Given the description of an element on the screen output the (x, y) to click on. 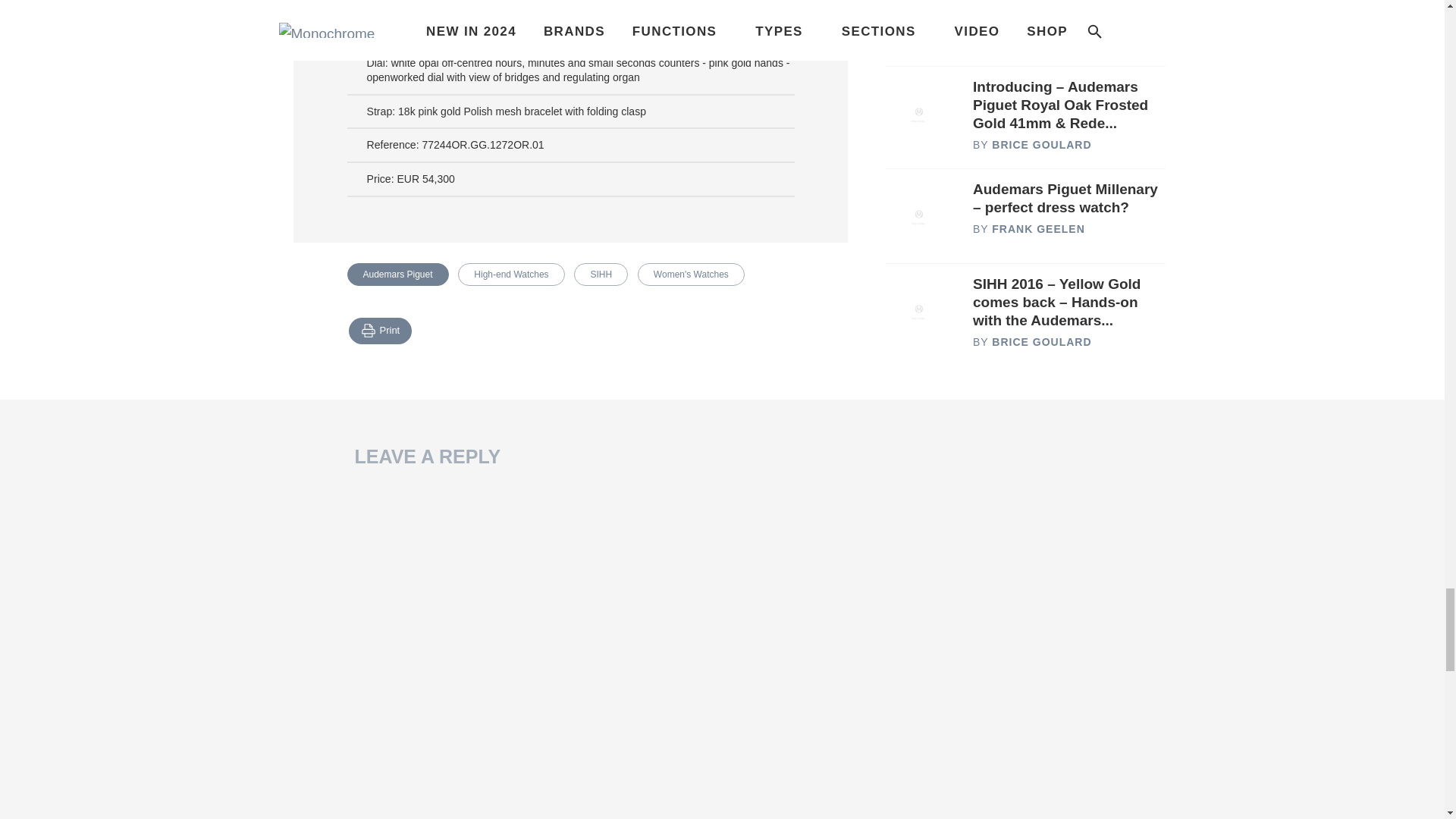
High-end Watches (511, 273)
Audemars Piguet (397, 273)
Women's Watches (690, 273)
SIHH (600, 273)
